Given the description of an element on the screen output the (x, y) to click on. 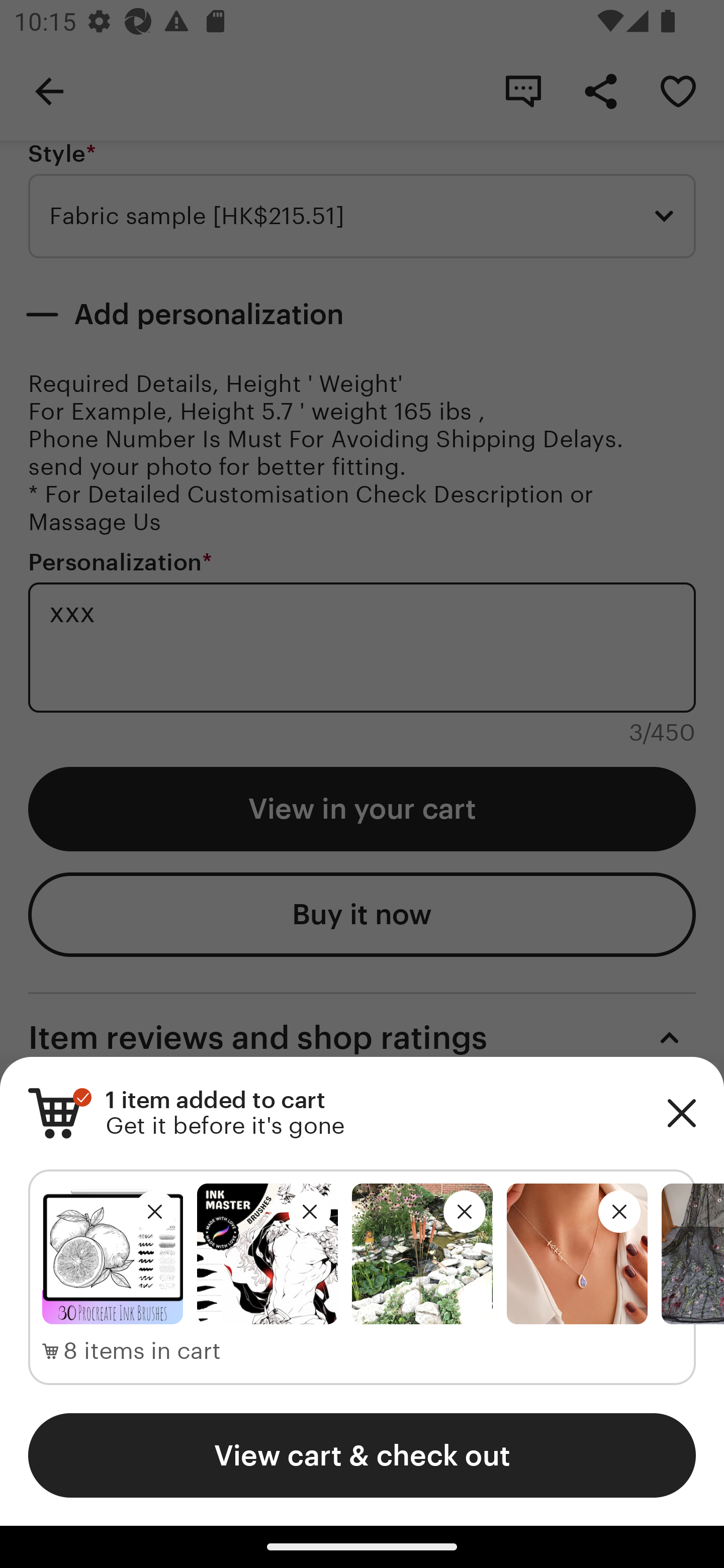
8 items in cart (131, 1351)
View cart & check out (361, 1454)
